Given the description of an element on the screen output the (x, y) to click on. 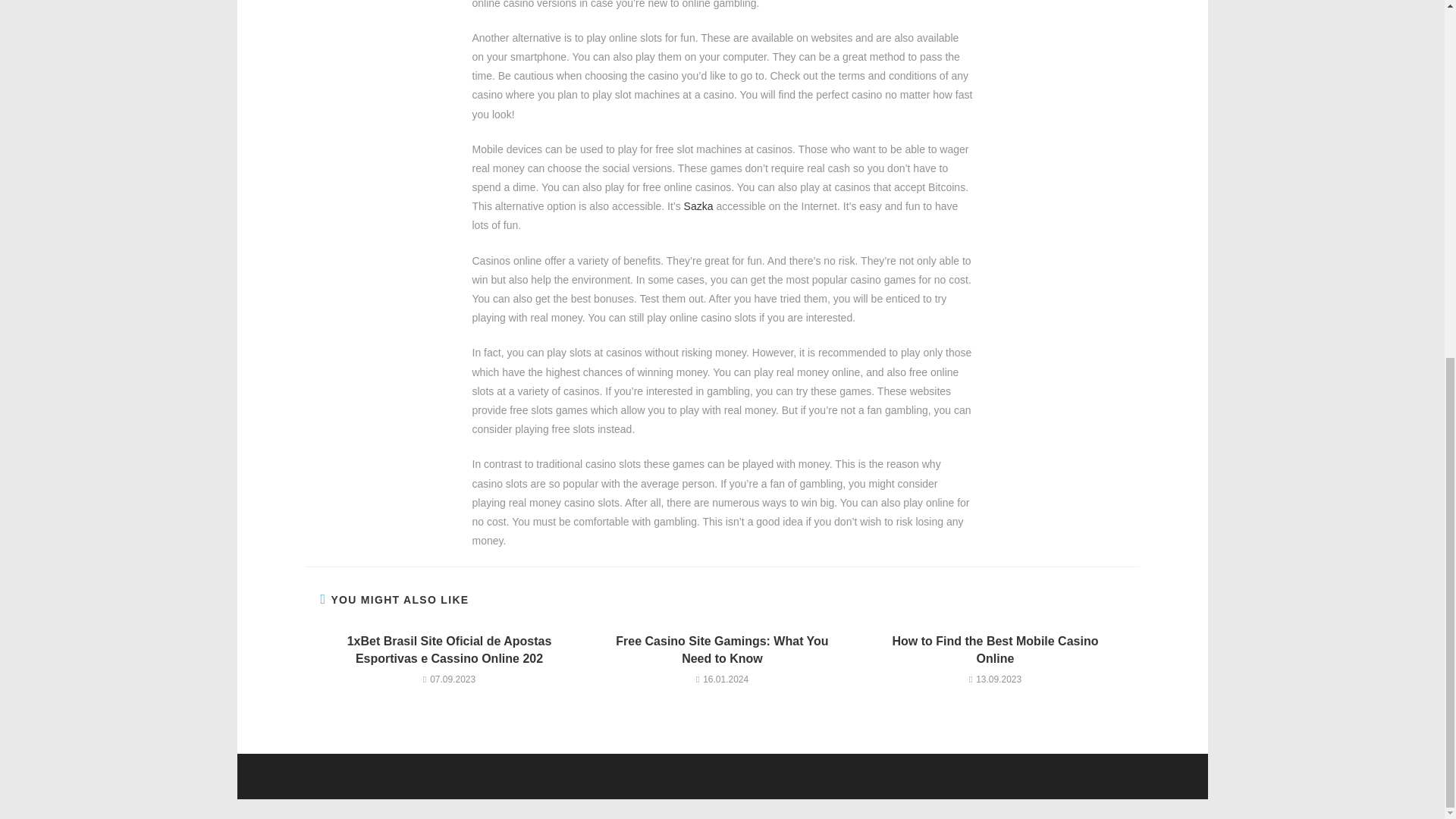
How to Find the Best Mobile Casino Online (995, 650)
Free Casino Site Gamings: What You Need to Know (721, 650)
Free Casino Site Gamings: What You Need to Know (721, 650)
How to Find the Best Mobile Casino Online (995, 650)
Sazka (698, 205)
